Given the description of an element on the screen output the (x, y) to click on. 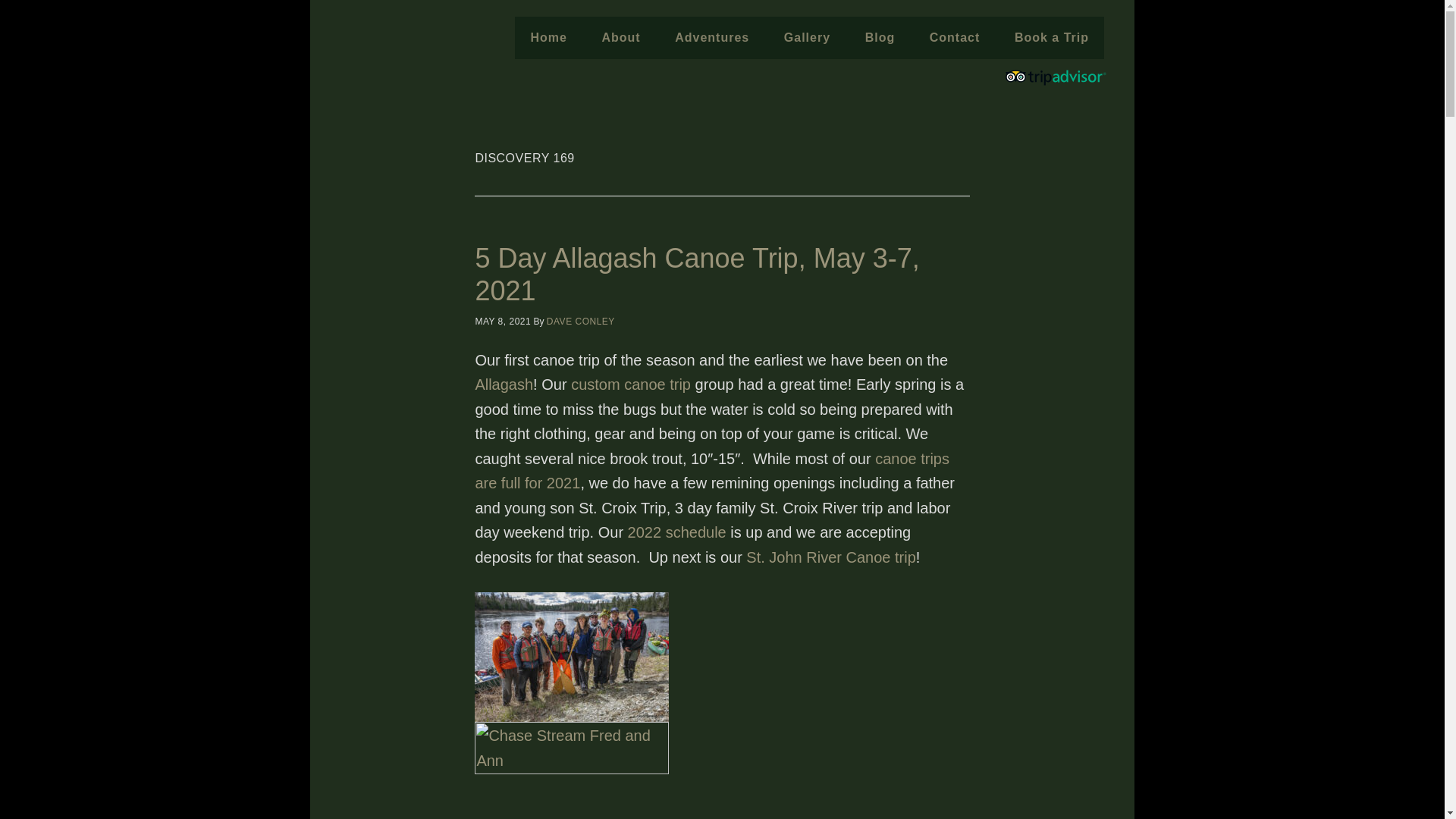
CANOE THE WILD (416, 77)
Adventures (711, 37)
Chase Stream Fred and Ann (571, 770)
Home (547, 37)
About (620, 37)
Private guided canoe Group on the Allagash (571, 656)
Gallery (806, 37)
Canoe the Wild on Trip Advisor (1062, 81)
